Given the description of an element on the screen output the (x, y) to click on. 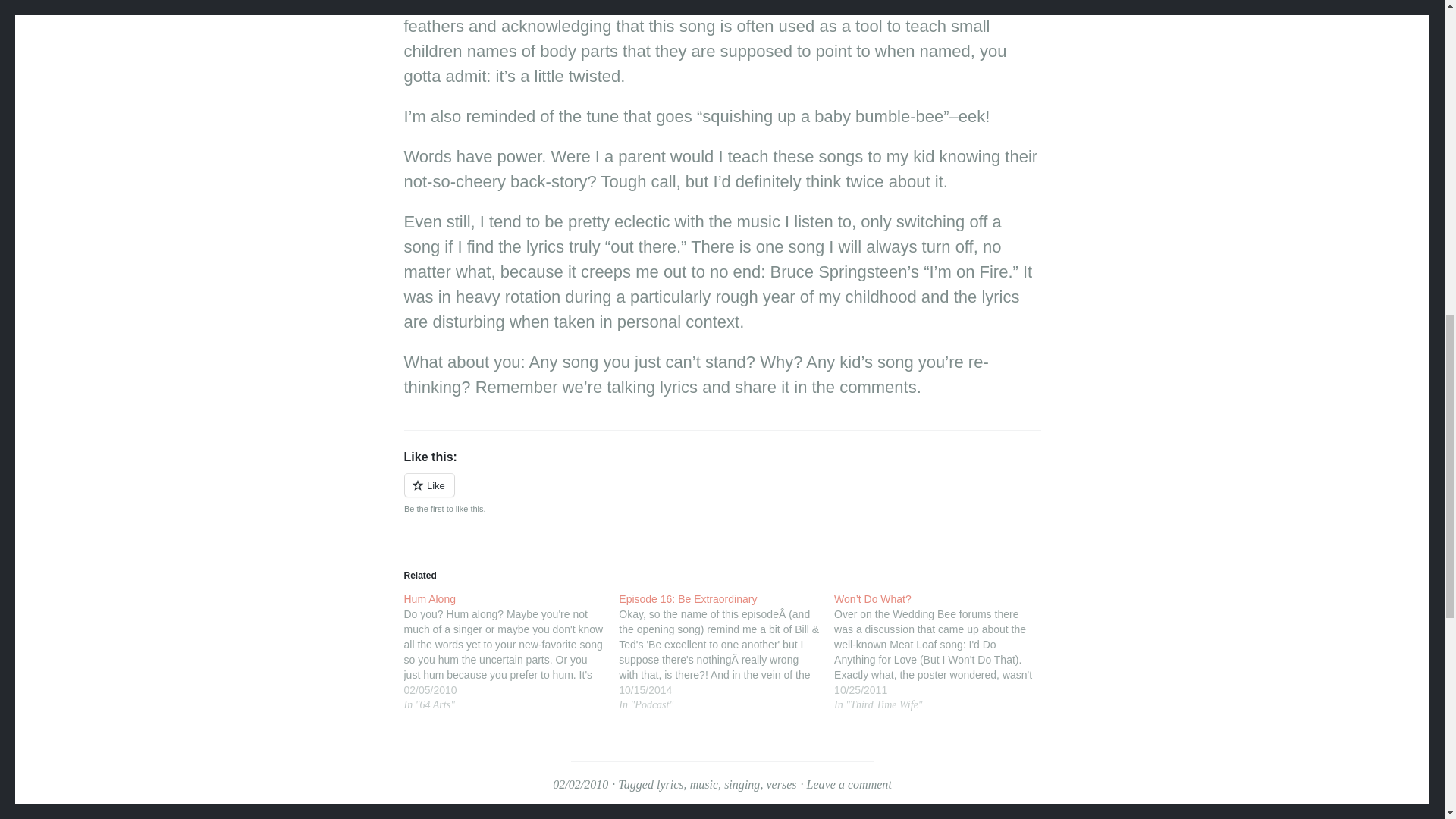
Episode 16: Be Extraordinary (726, 651)
Hum Along (503, 598)
Hum Along (510, 651)
lyrics (670, 784)
music (703, 784)
Episode 16: Be Extraordinary (718, 598)
verses (780, 784)
Leave a comment (848, 784)
Hum Along (503, 598)
Like or Reblog (722, 494)
Episode 16: Be Extraordinary (718, 598)
singing (741, 784)
